Given the description of an element on the screen output the (x, y) to click on. 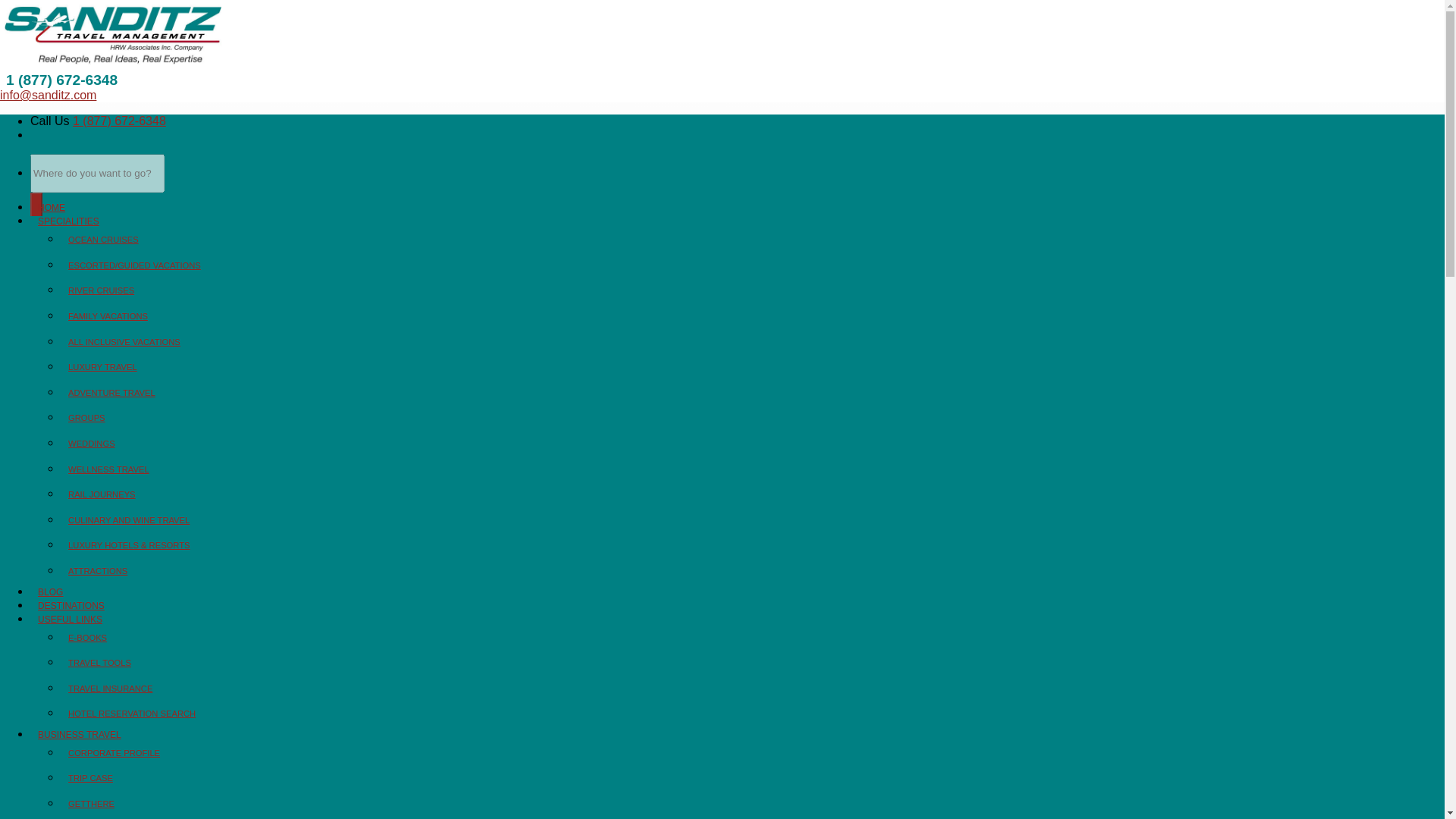
WEDDINGS (91, 442)
WELLNESS TRAVEL (109, 469)
HOME (51, 207)
TRAVEL INSURANCE (110, 687)
GETTHERE (91, 803)
LUXURY TRAVEL (102, 366)
RIVER CRUISES (101, 289)
TRAVEL TOOLS (99, 662)
BUSINESS TRAVEL (84, 734)
GROUPS (87, 417)
ALL INCLUSIVE VACATIONS (124, 341)
ADVENTURE TRAVEL (112, 392)
E-BOOKS (88, 636)
SPECIALITIES (73, 221)
HOTEL RESERVATION SEARCH (132, 713)
